Given the description of an element on the screen output the (x, y) to click on. 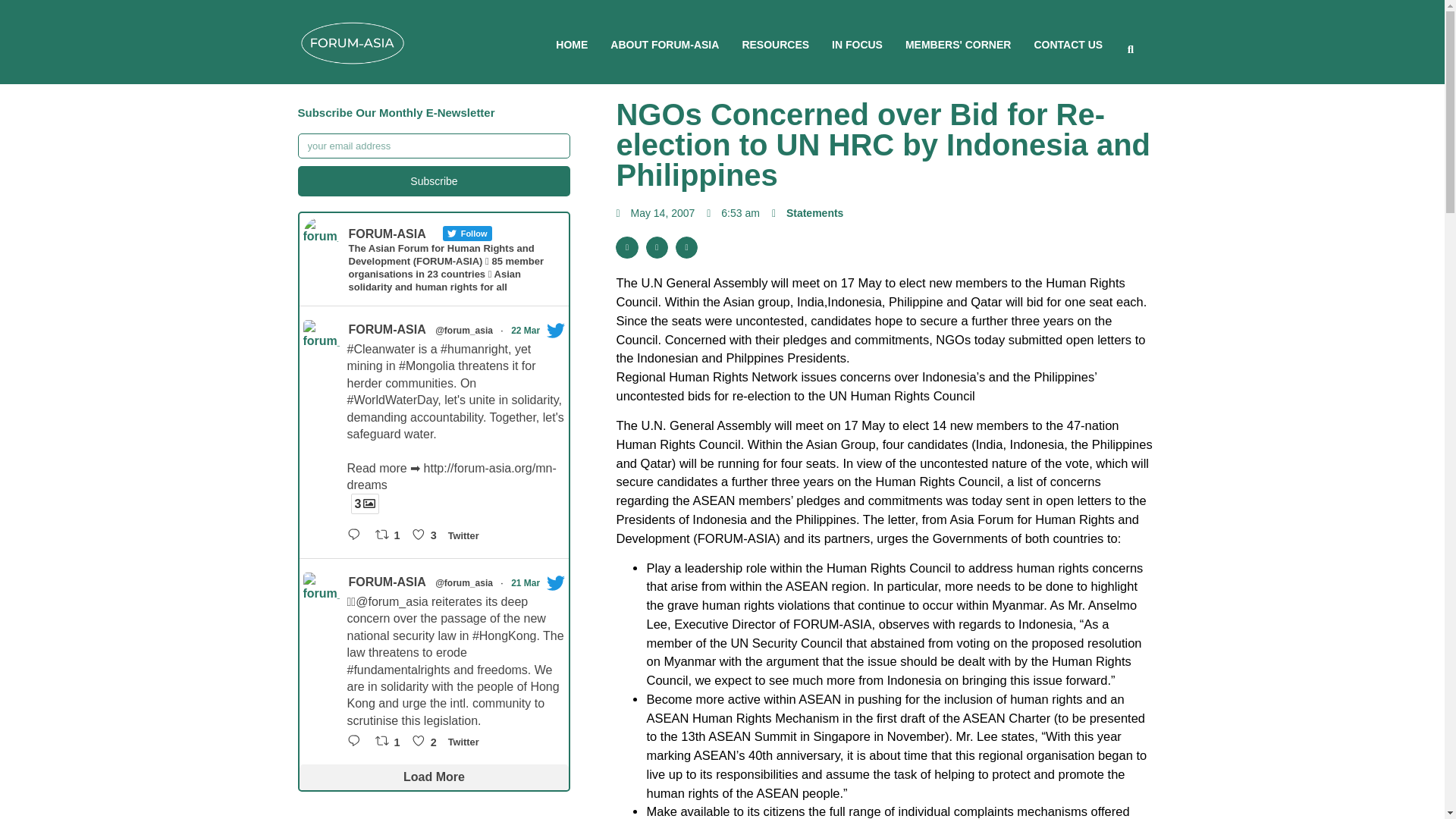
IN FOCUS (856, 44)
CONTACT US (1067, 44)
HOME (571, 44)
RESOURCES (774, 44)
ABOUT FORUM-ASIA (664, 44)
MEMBERS' CORNER (957, 44)
